Given the description of an element on the screen output the (x, y) to click on. 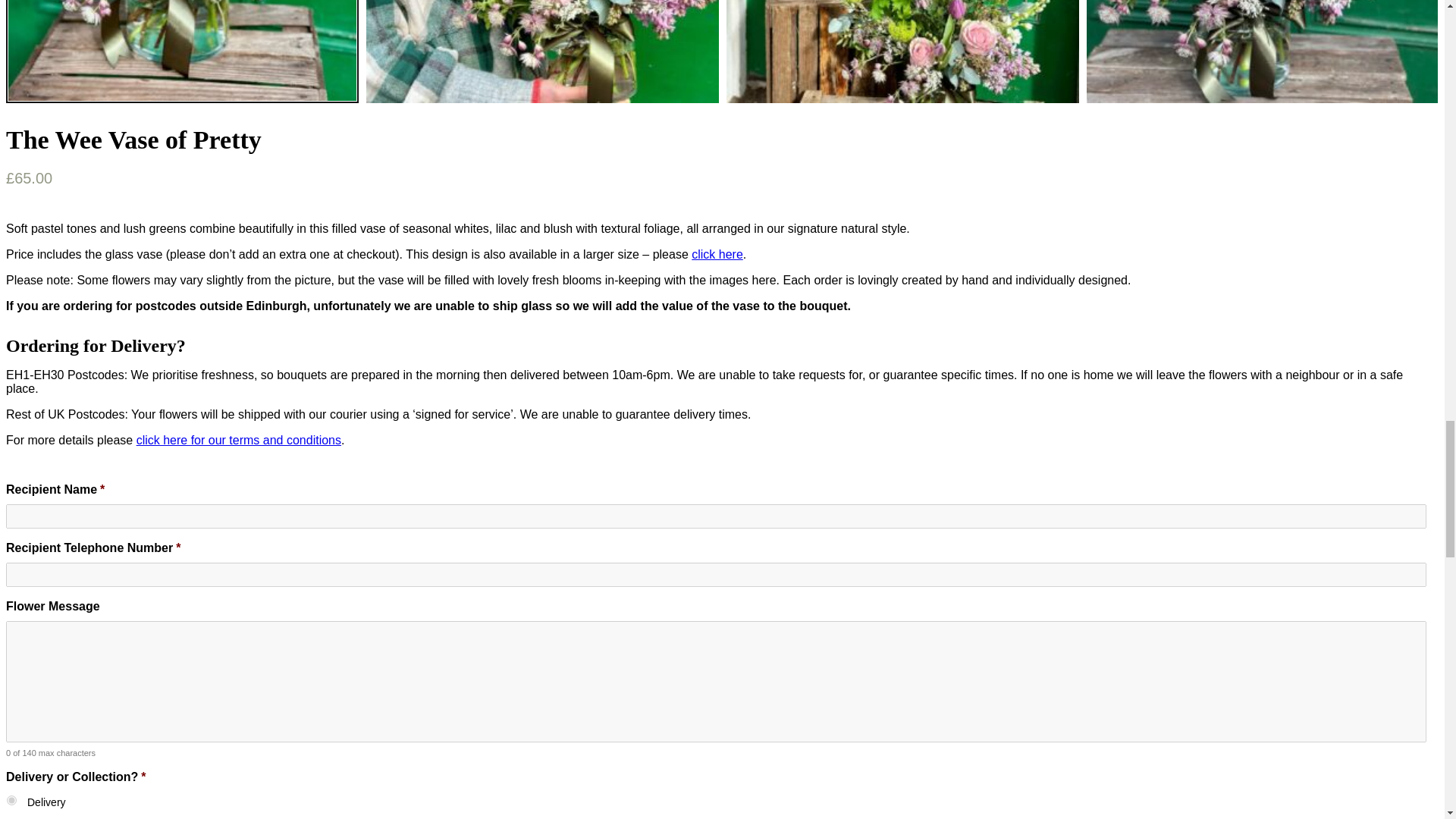
Delivery (11, 800)
